Given the description of an element on the screen output the (x, y) to click on. 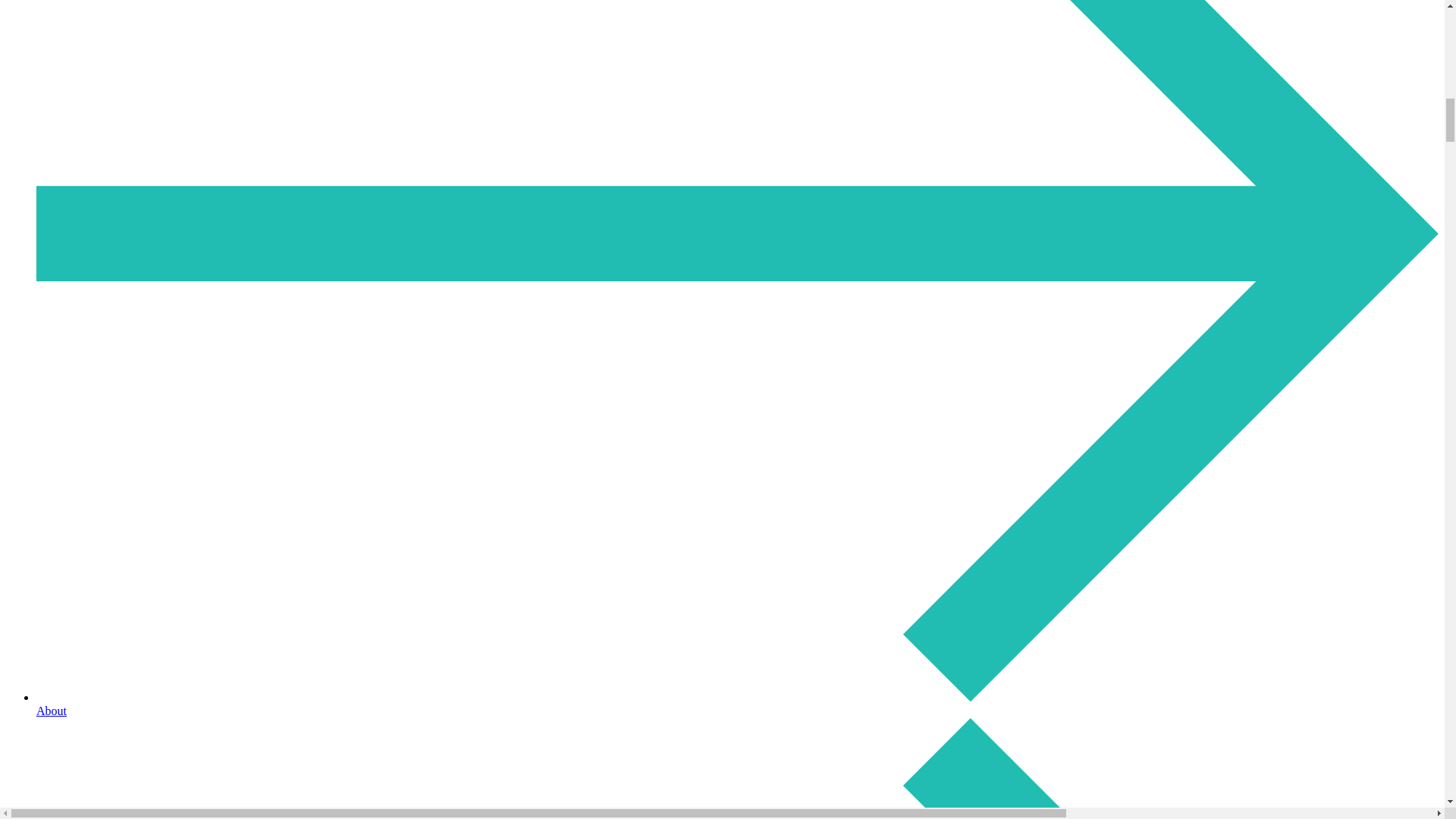
About (737, 704)
